Given the description of an element on the screen output the (x, y) to click on. 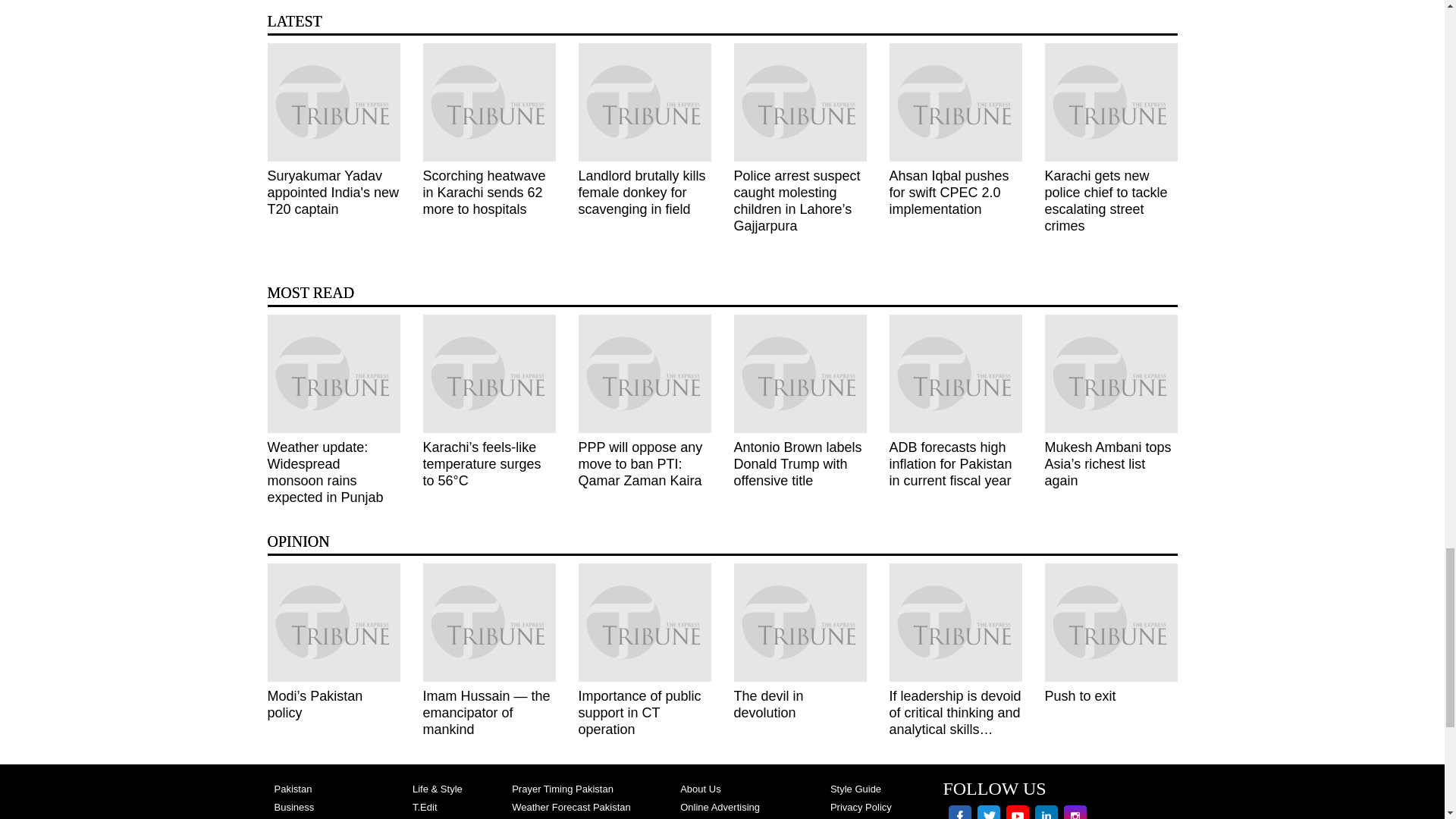
antonio brown labels donald trump with offensive title (799, 373)
importance of public support in ct operation (644, 622)
scorching heatwave in karachi sends 62 more to hospitals (489, 102)
karachi s feels like temperature surges to 56 c (489, 373)
modi s pakistan policy (332, 622)
mukesh ambani tops asia s richest list again (1111, 373)
suryakumar yadav appointed india s new t20 captain (332, 102)
ahsan iqbal pushes for swift cpec 2 0 implementation (955, 102)
push to exit (1111, 622)
ppp will oppose any move to ban pti qamar zaman kaira (644, 373)
